Given the description of an element on the screen output the (x, y) to click on. 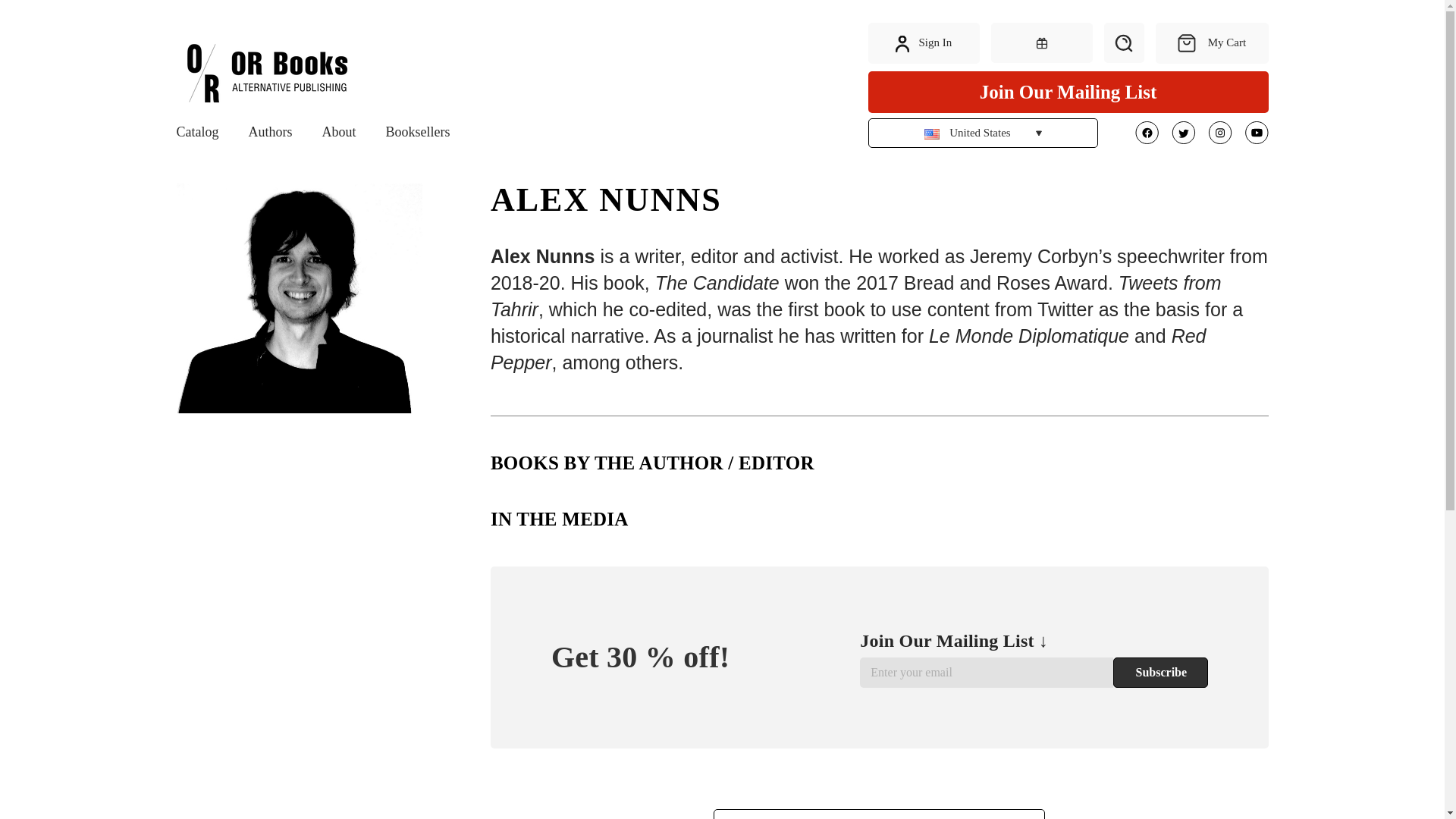
About (338, 131)
Subscribe (1160, 672)
Authors (270, 131)
Catalog (197, 131)
Booksellers (417, 131)
OR Books (267, 73)
